Given the description of an element on the screen output the (x, y) to click on. 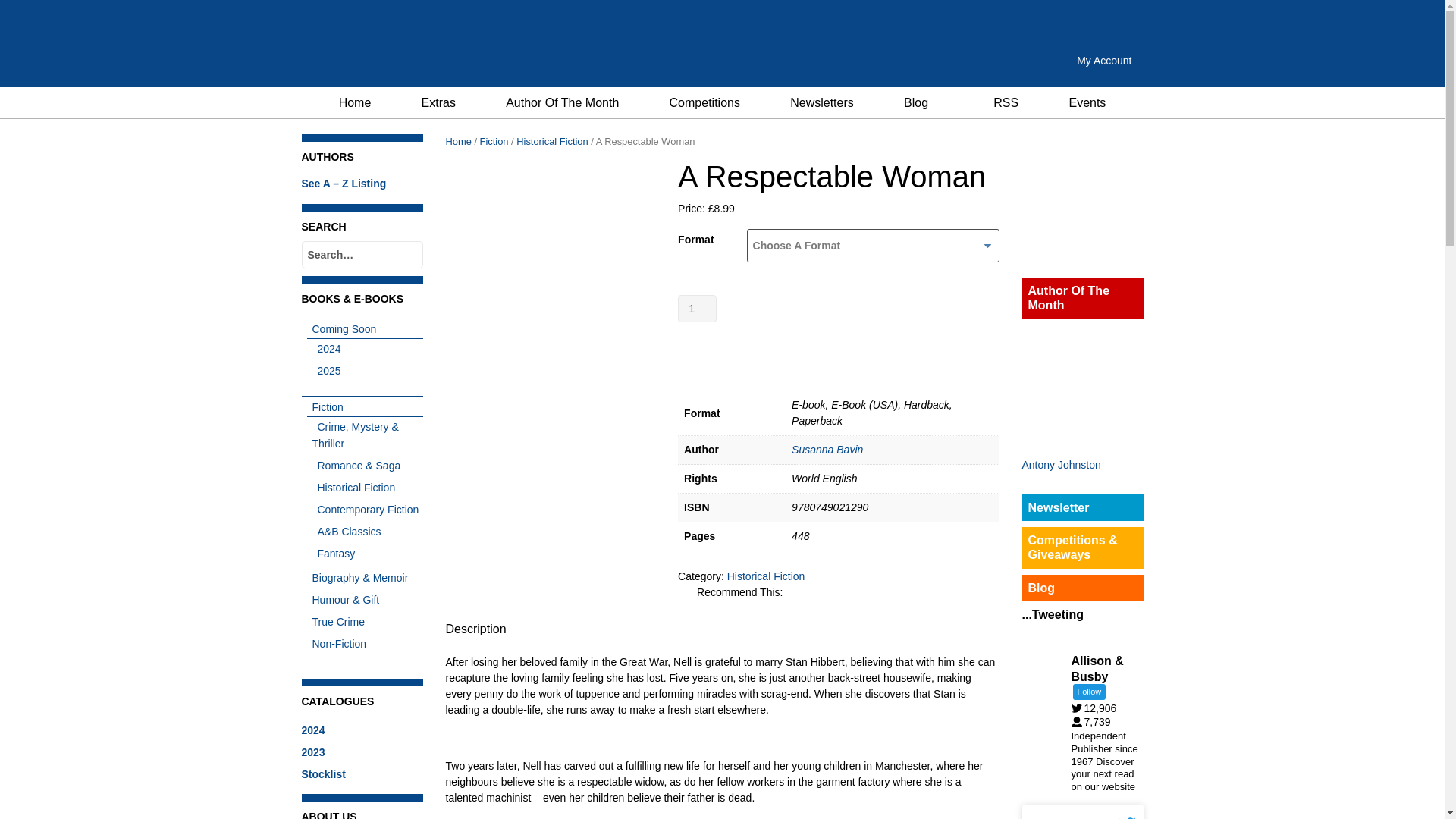
Events (1087, 102)
My Account (1104, 60)
Blog (916, 102)
True Crime (335, 621)
Stocklist (323, 774)
Author Of The Month (561, 102)
Historical Fiction (354, 487)
Non-Fiction (335, 644)
12,906 Tweets (1097, 707)
Coming Soon (340, 328)
